Given the description of an element on the screen output the (x, y) to click on. 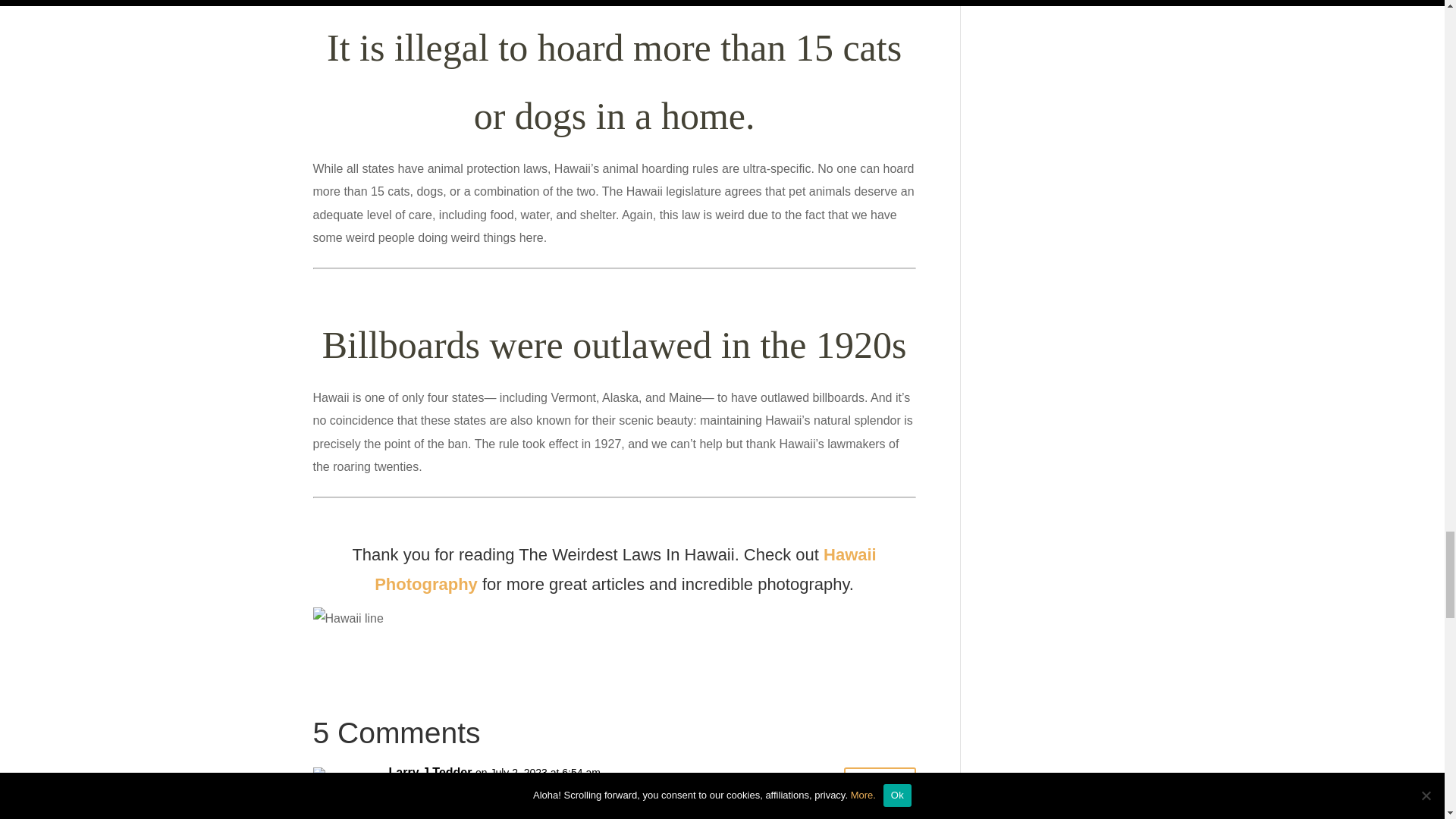
Hawaii Photography (625, 569)
Reply (879, 786)
